Given the description of an element on the screen output the (x, y) to click on. 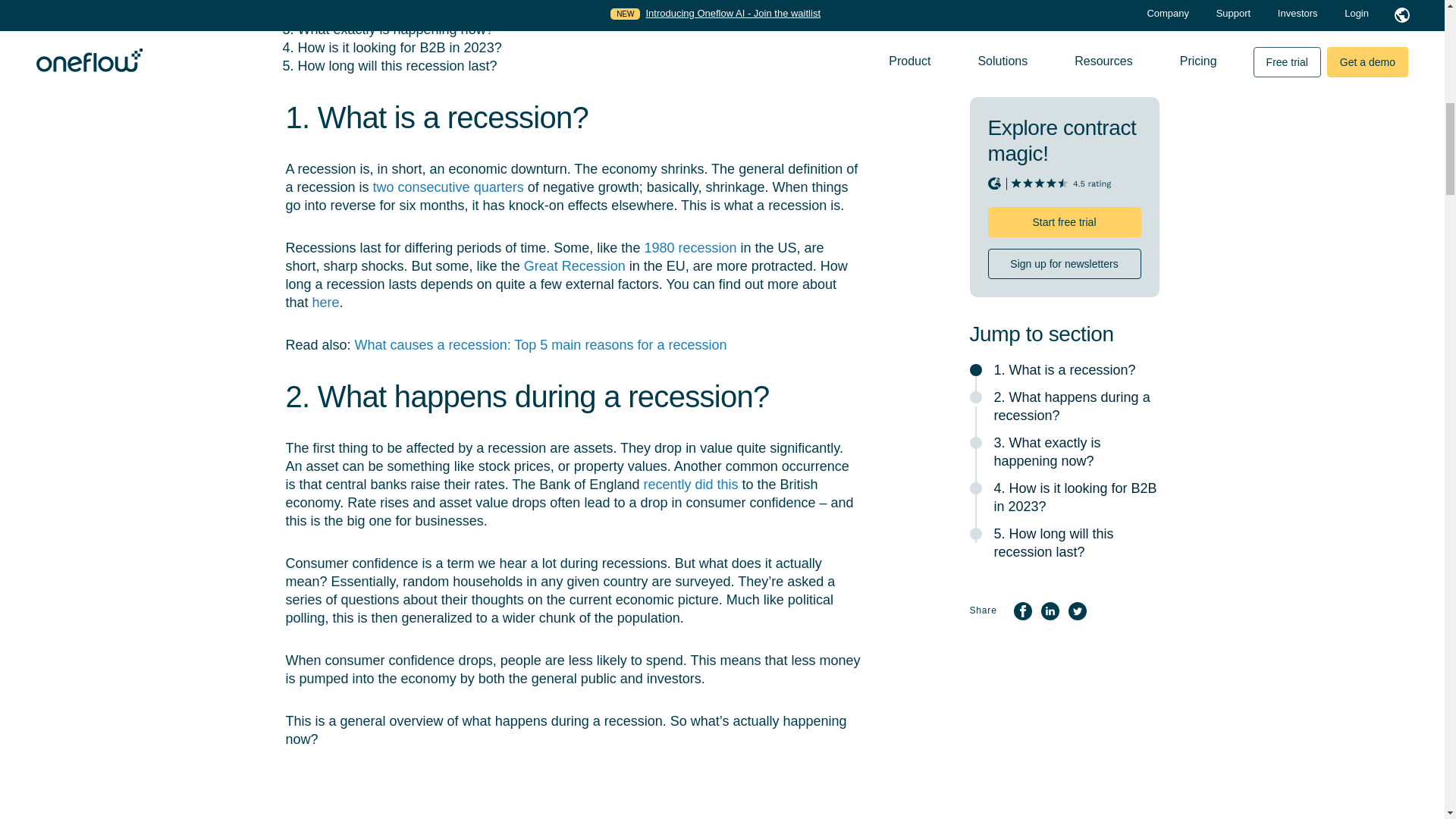
5. How long will this recession last? (1063, 229)
2. What happens during a recession? (1063, 93)
Share (1050, 298)
Share (1022, 298)
4. How is it looking for B2B in 2023? (1063, 184)
3. What exactly is happening now? (1063, 138)
Share (1077, 298)
1. What is a recession? (1063, 56)
